Given the description of an element on the screen output the (x, y) to click on. 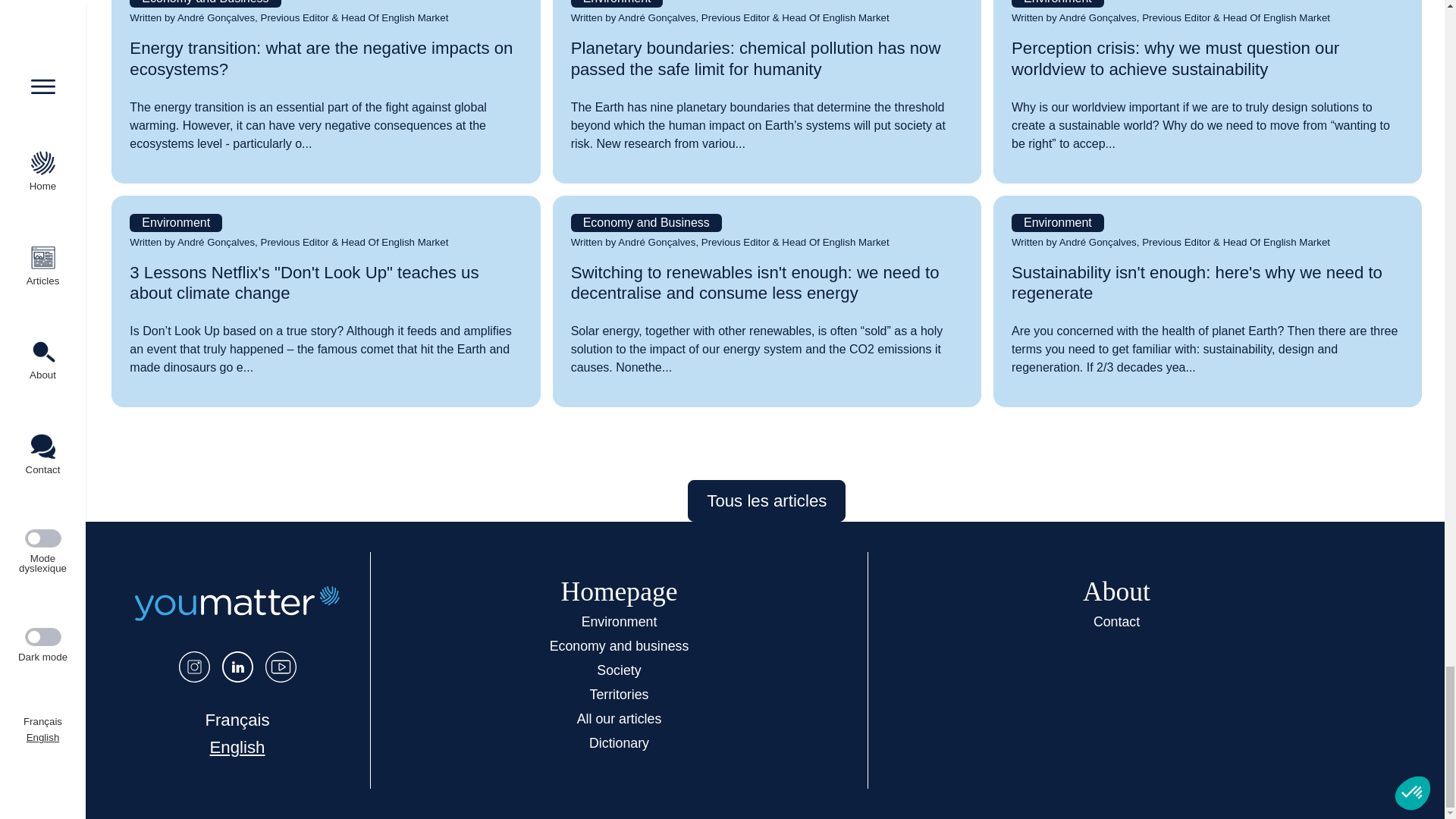
Home (237, 603)
